Given the description of an element on the screen output the (x, y) to click on. 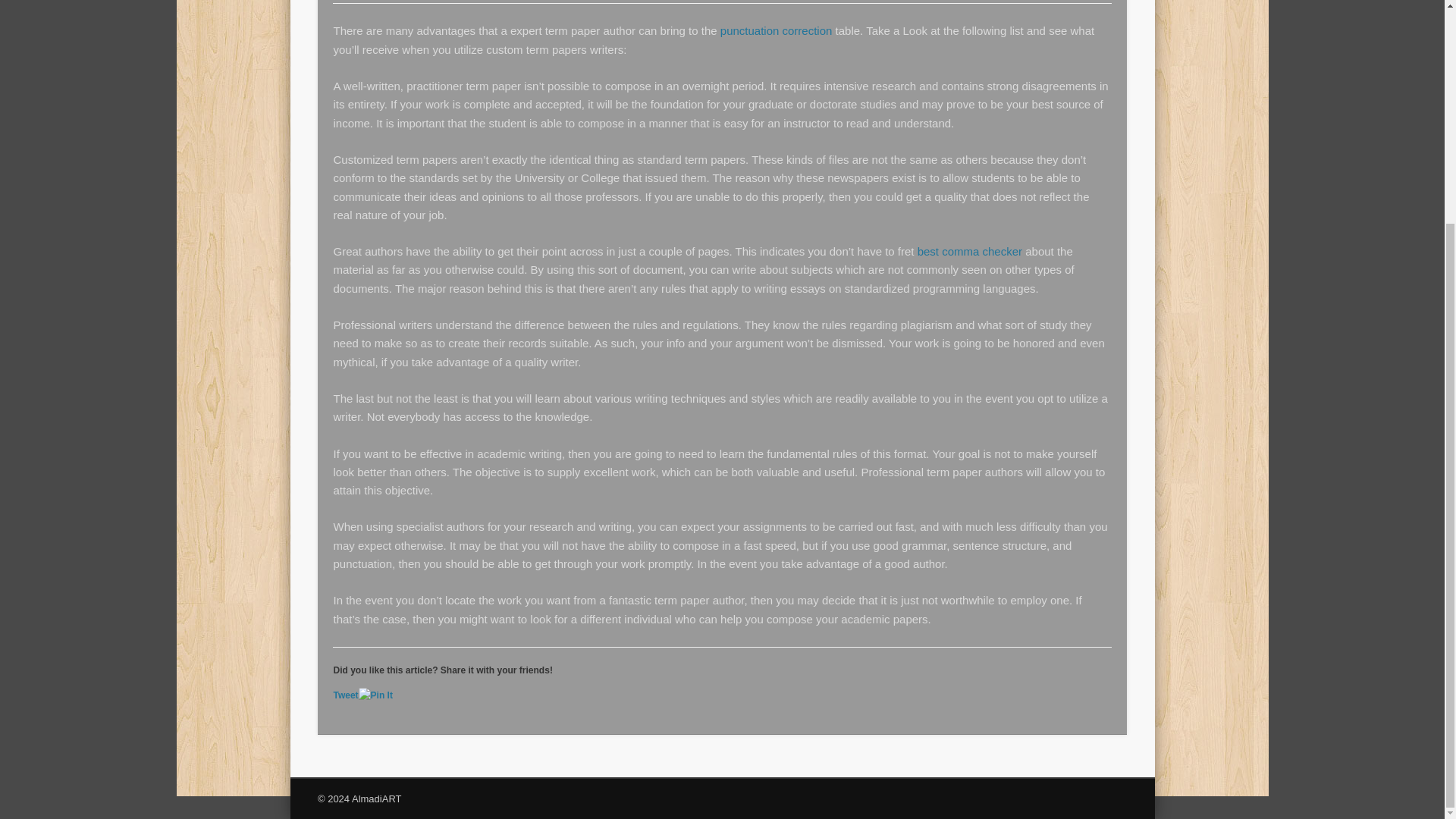
punctuation correction (776, 30)
Tweet (345, 695)
best comma checker (969, 250)
Pin It (375, 695)
